Given the description of an element on the screen output the (x, y) to click on. 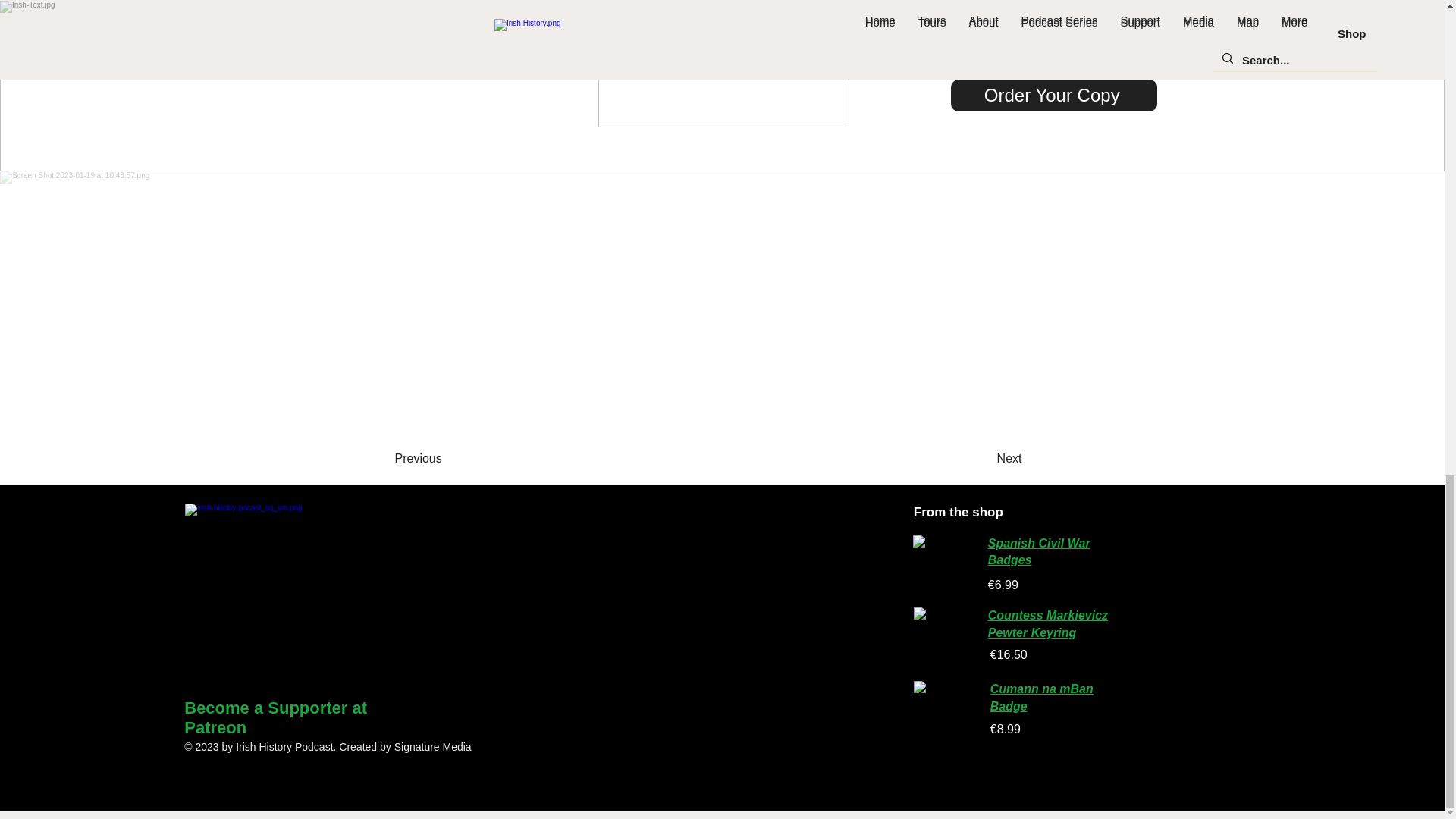
Cumann na mBan Badge (1041, 696)
Become a Supporter at Patreon (275, 717)
Order Your Copy (1053, 95)
Countess Markievicz Pewter Keyring (1048, 623)
Spanish Civil War Badges (1039, 551)
Next (970, 458)
Previous (455, 458)
